Given the description of an element on the screen output the (x, y) to click on. 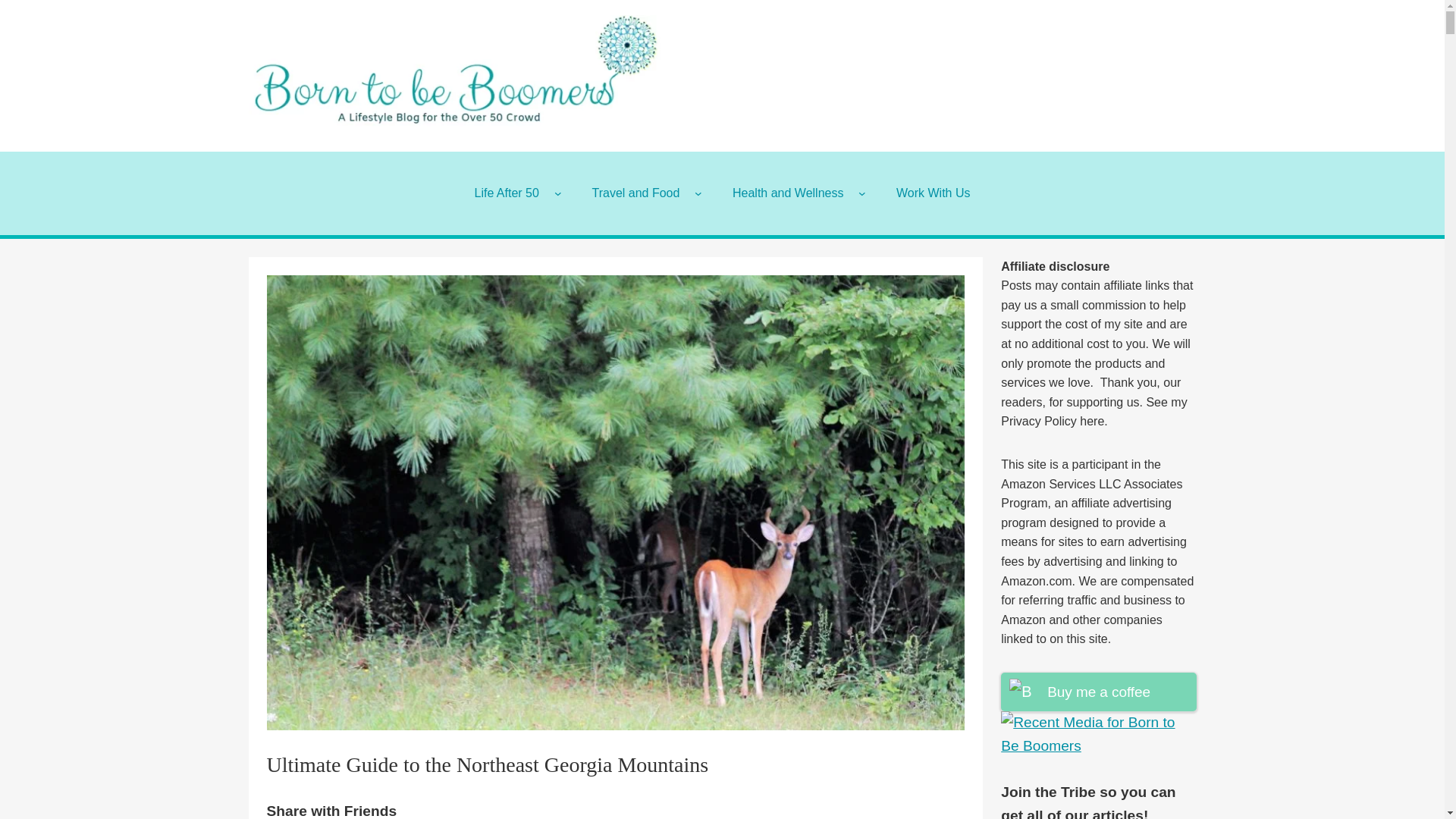
Travel and Food (635, 192)
Work With Us (932, 192)
Life After 50 (505, 192)
Health and Wellness (788, 192)
